Given the description of an element on the screen output the (x, y) to click on. 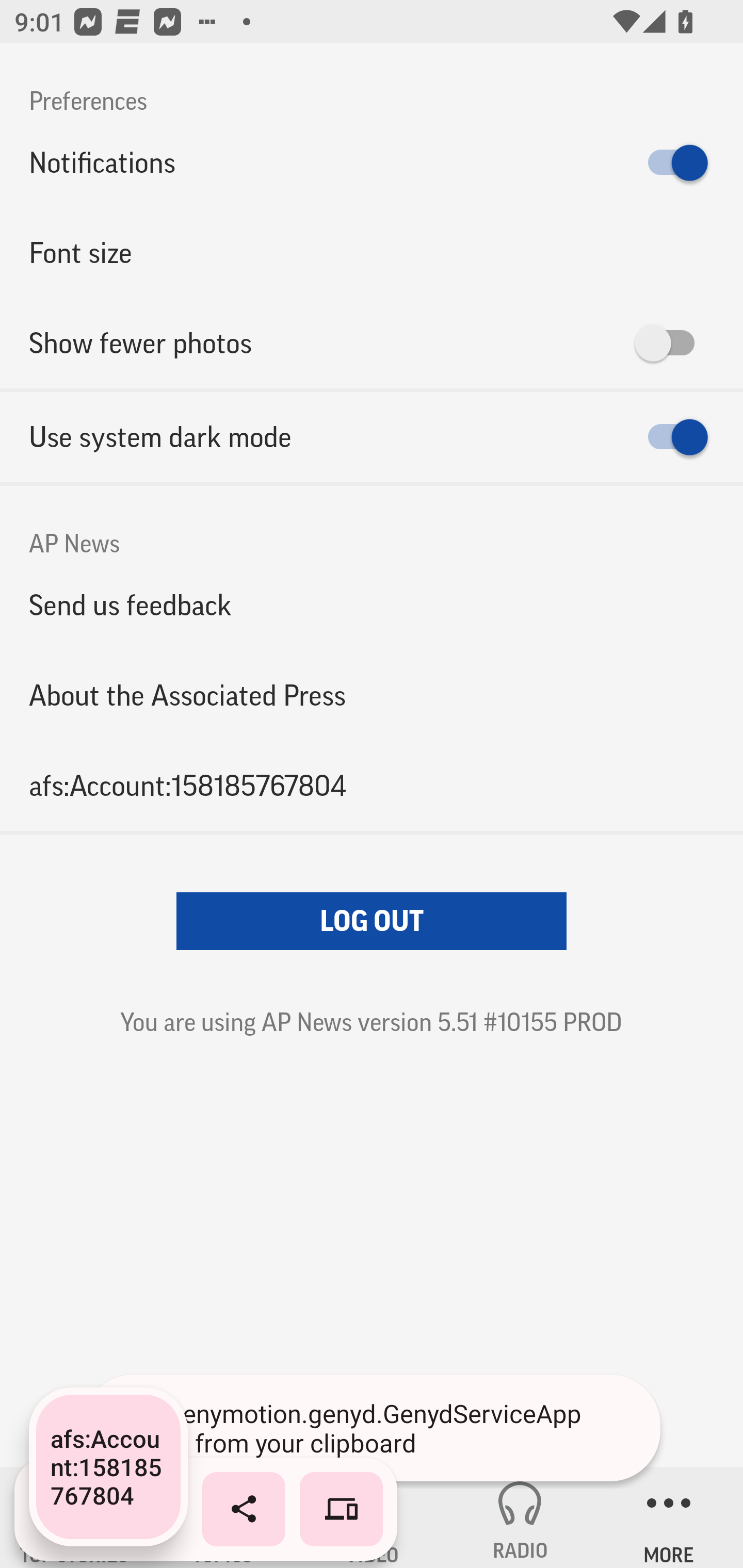
Notifications (371, 162)
Font size (371, 252)
Show fewer photos (371, 342)
Use system dark mode (371, 437)
Send us feedback (371, 604)
About the Associated Press (371, 695)
afs:Account:158185767804 (371, 785)
LOG OUT (371, 921)
TOPICS (222, 1517)
VIDEO (371, 1517)
RADIO (519, 1517)
MORE (668, 1517)
